Given the description of an element on the screen output the (x, y) to click on. 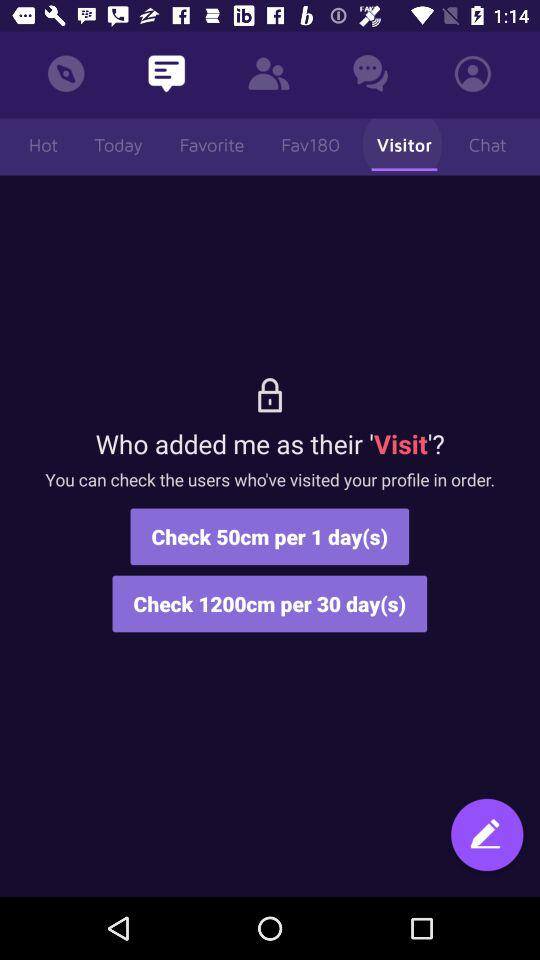
turn on icon below the you can check (487, 844)
